Given the description of an element on the screen output the (x, y) to click on. 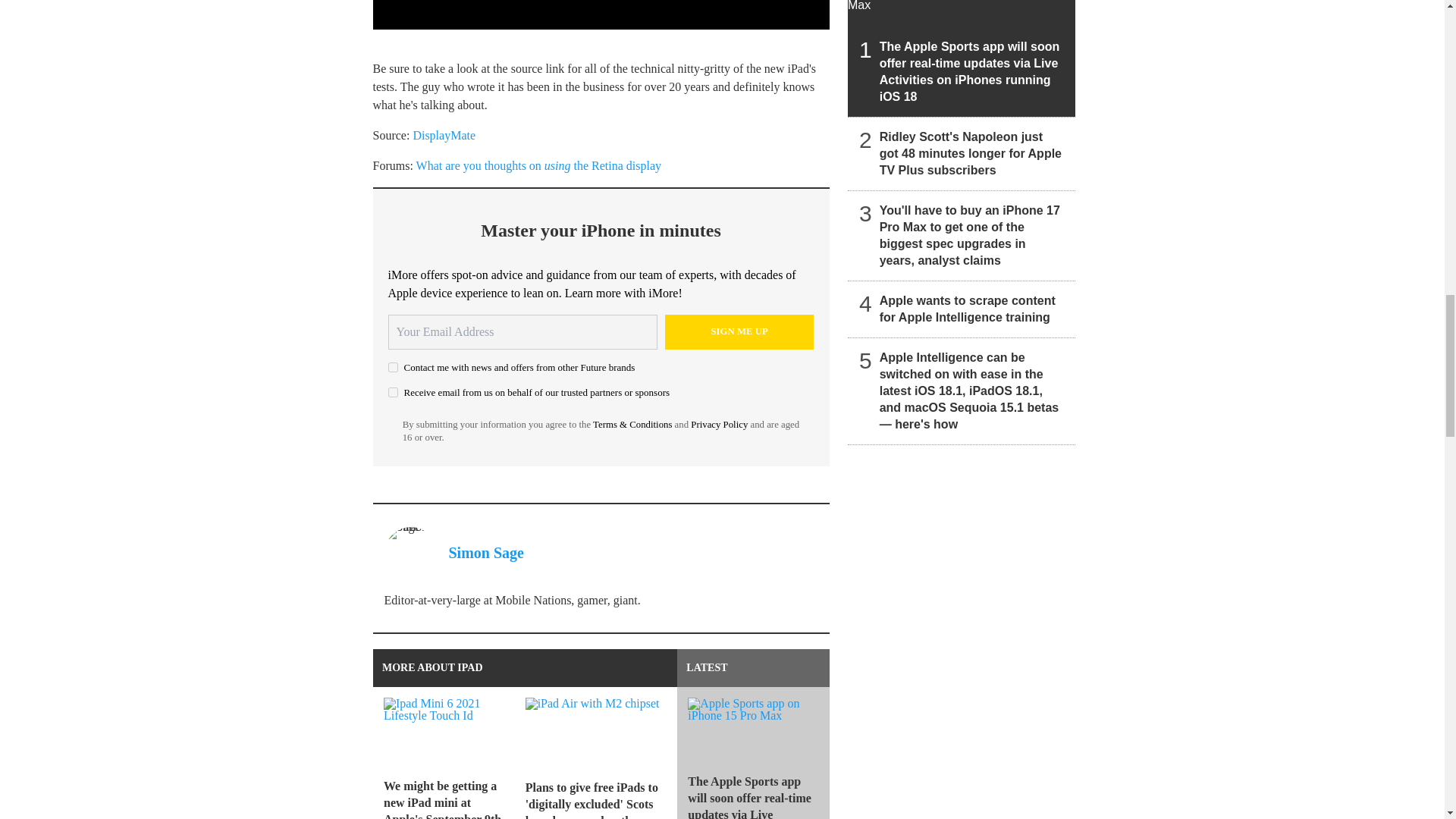
on (392, 392)
Sign me up (739, 331)
on (392, 367)
